Given the description of an element on the screen output the (x, y) to click on. 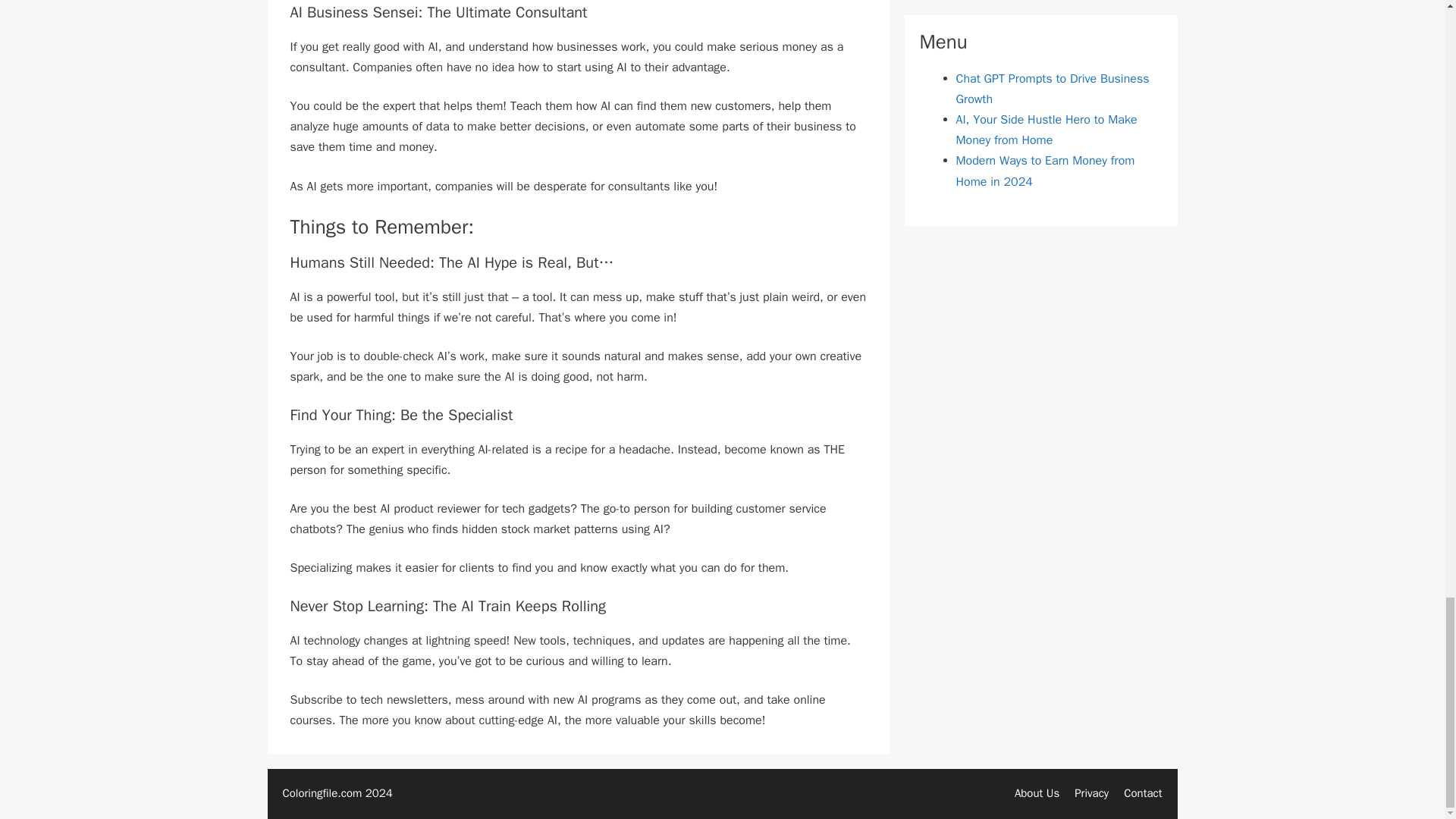
Contact (1142, 793)
About Us (1036, 793)
Privacy (1091, 793)
